Given the description of an element on the screen output the (x, y) to click on. 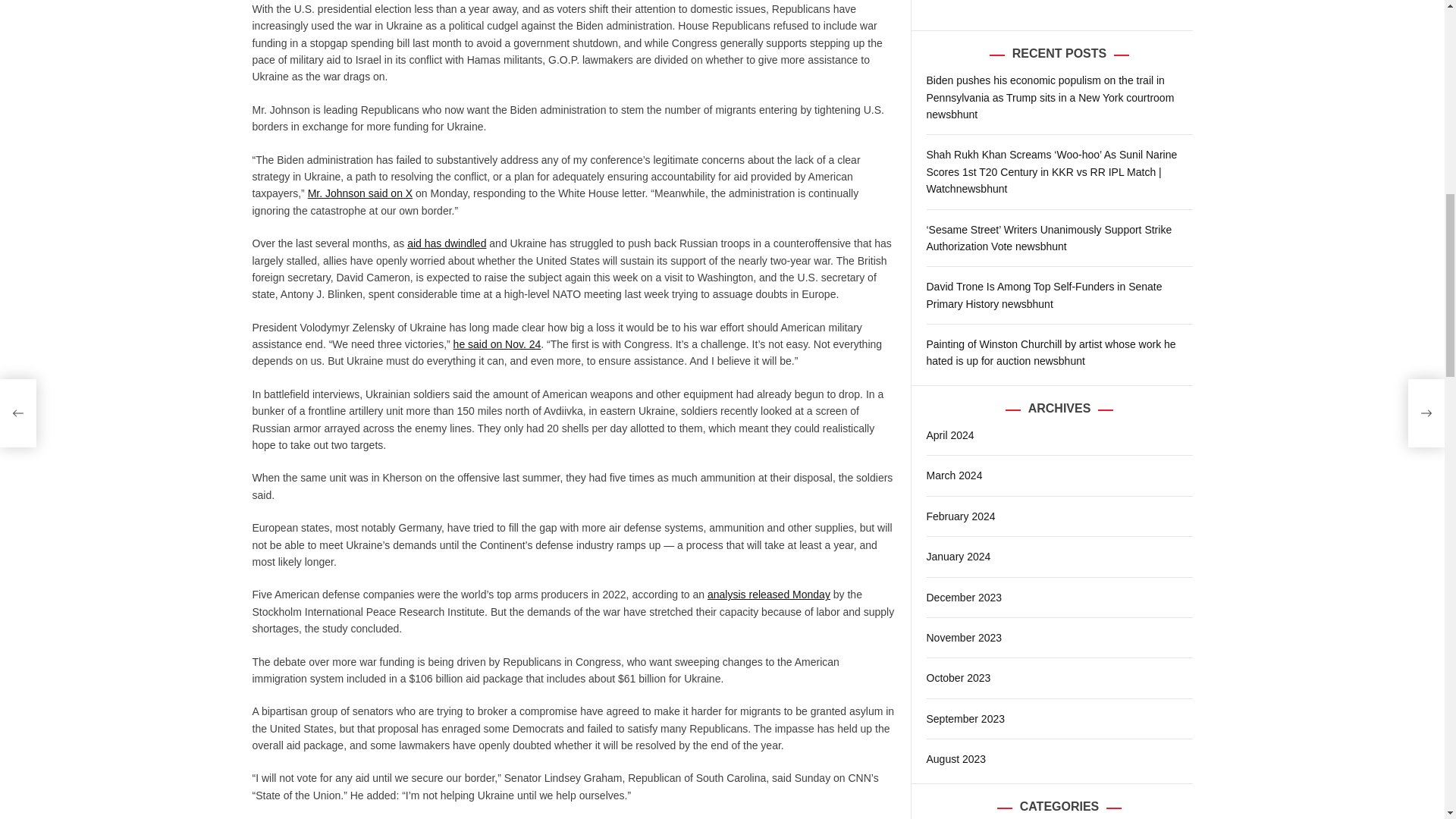
analysis released Monday (768, 594)
he said on Nov. 24 (496, 344)
Mr. Johnson said on X (360, 193)
aid has dwindled (446, 243)
